Given the description of an element on the screen output the (x, y) to click on. 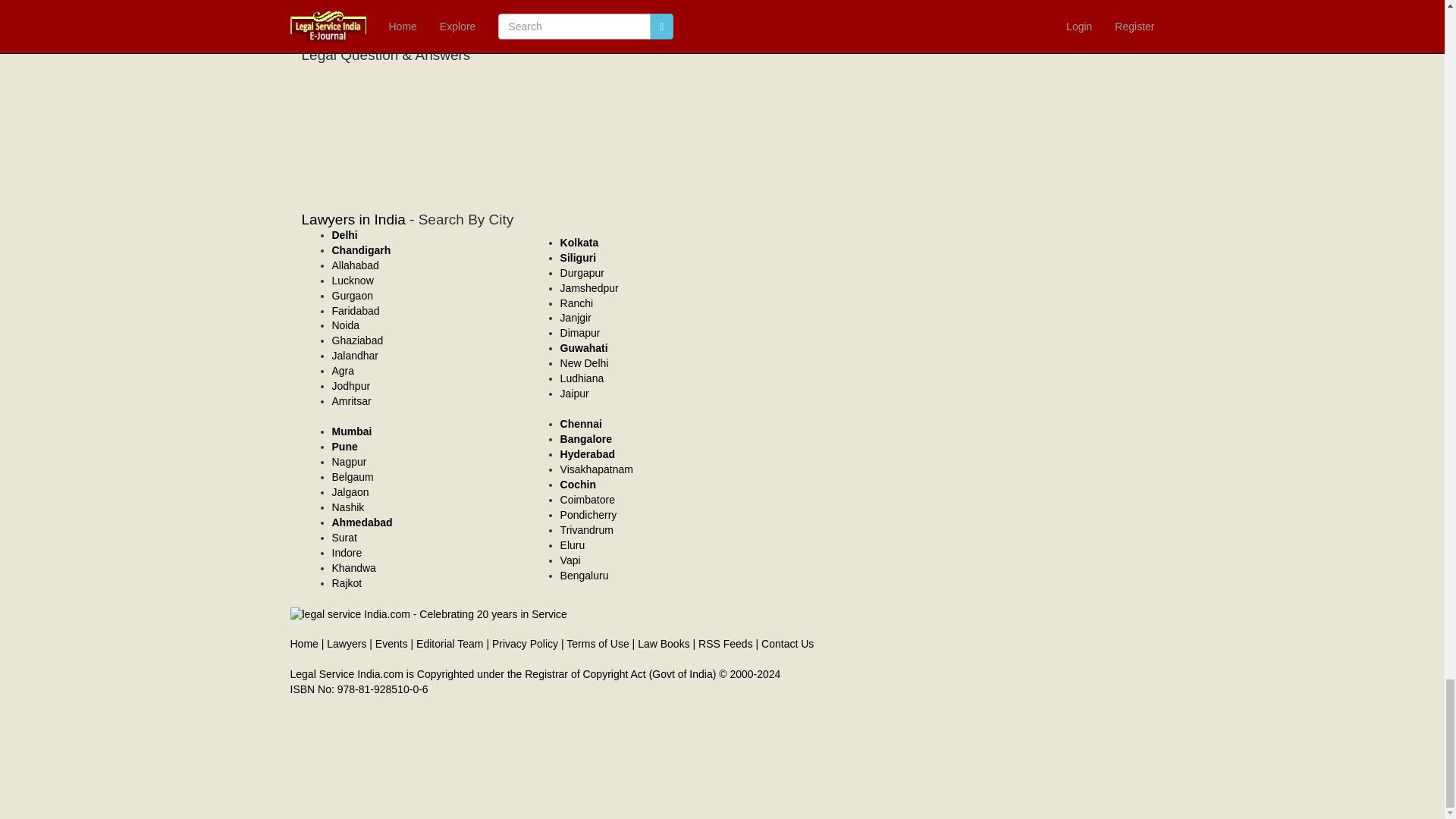
Lawyers in Faridabad (355, 310)
Chandigarh (361, 250)
Gurgaon (351, 295)
lawyers in Nashik (348, 507)
Noida (345, 325)
Lawyers in Gurgaon (351, 295)
Mumbai (351, 431)
Delhi (344, 234)
Lawyers in India (353, 219)
lawyers in Nagpur (348, 461)
